Given the description of an element on the screen output the (x, y) to click on. 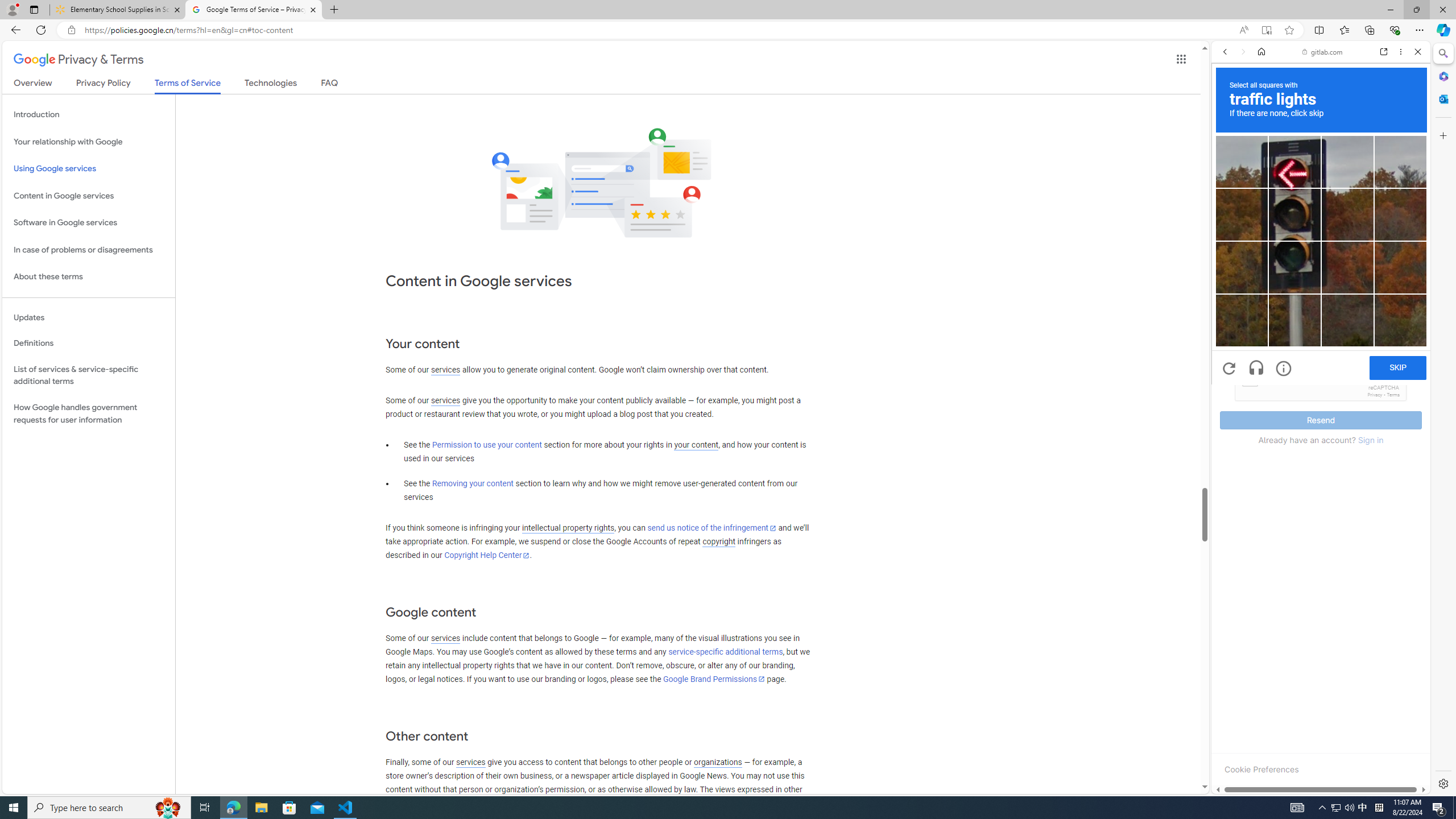
Register Now (1320, 253)
Register Now (1320, 253)
Emails (1232, 342)
Get an audio challenge (1256, 368)
Terms (1393, 394)
Close Search pane (1442, 53)
Resend confirmation instructions (1321, 252)
GitLab.com (1321, 189)
